Given the description of an element on the screen output the (x, y) to click on. 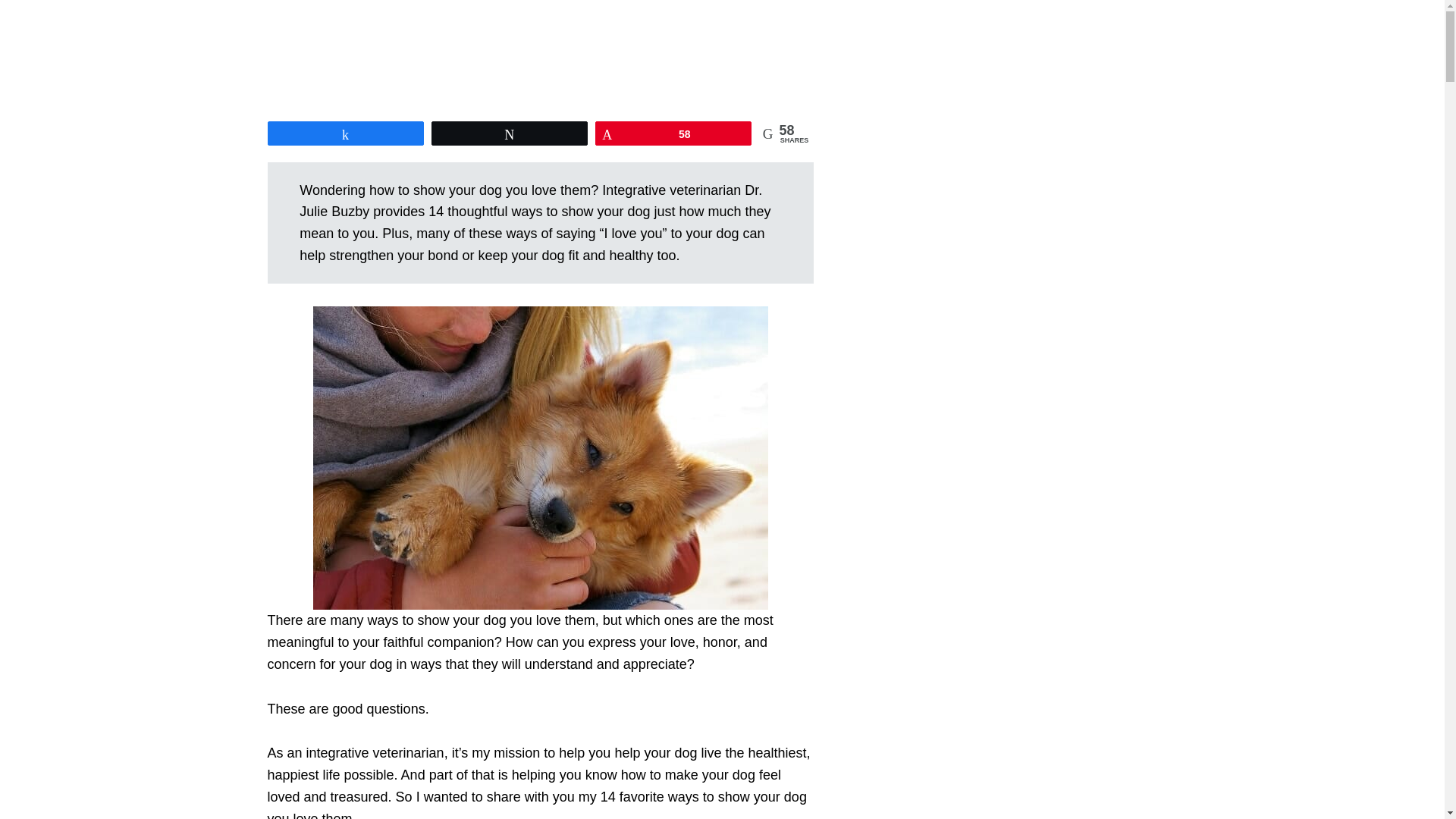
58 (673, 133)
